Given the description of an element on the screen output the (x, y) to click on. 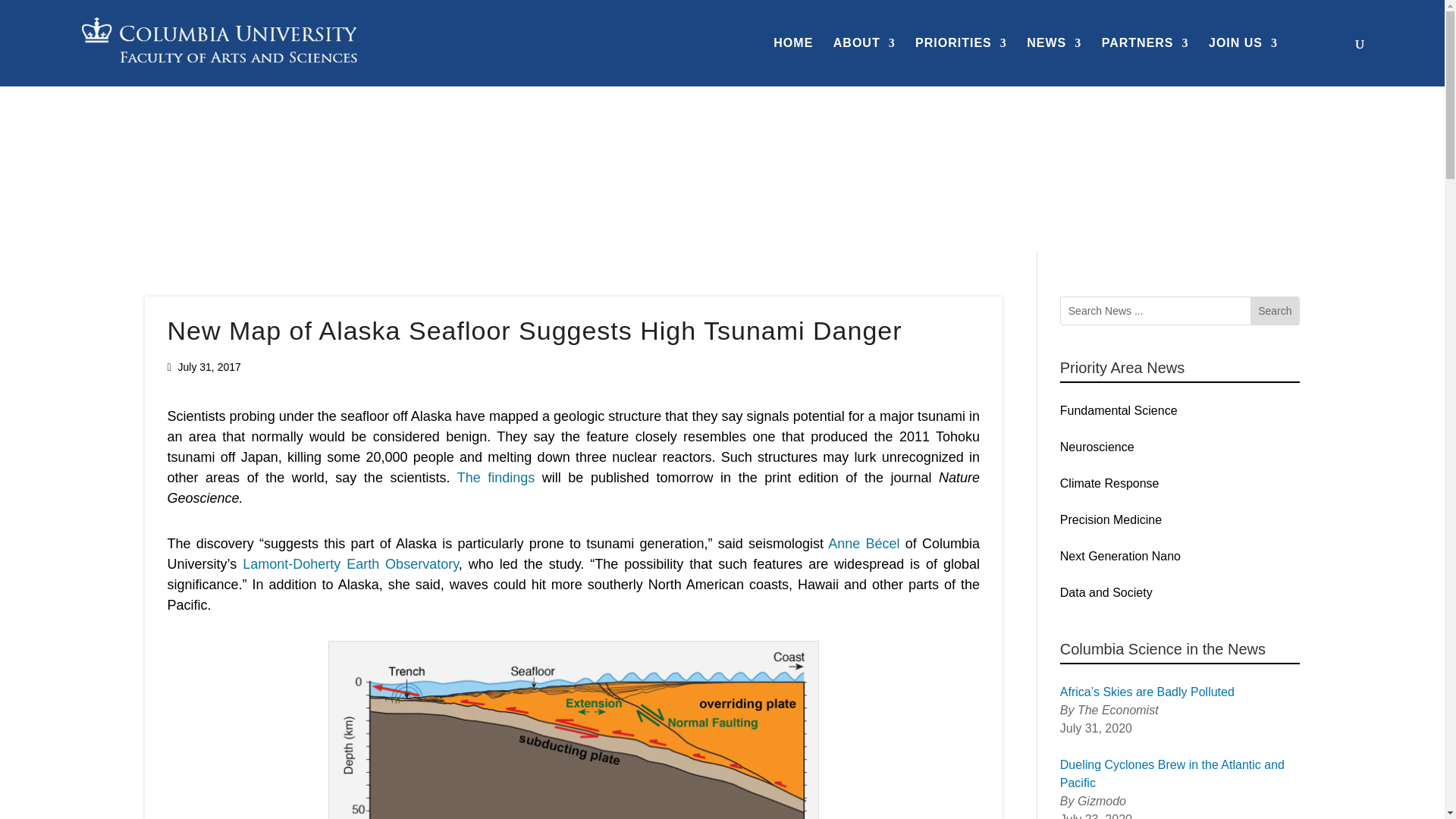
PARTNERS (1145, 61)
Lamont-Doherty Earth Observatory (350, 563)
Fundamental Science News (219, 155)
The findings (496, 477)
JOIN US (1243, 61)
PRIORITIES (961, 61)
ABOUT (863, 61)
NEWS (1053, 61)
Search (1274, 310)
Search (1274, 310)
